Given the description of an element on the screen output the (x, y) to click on. 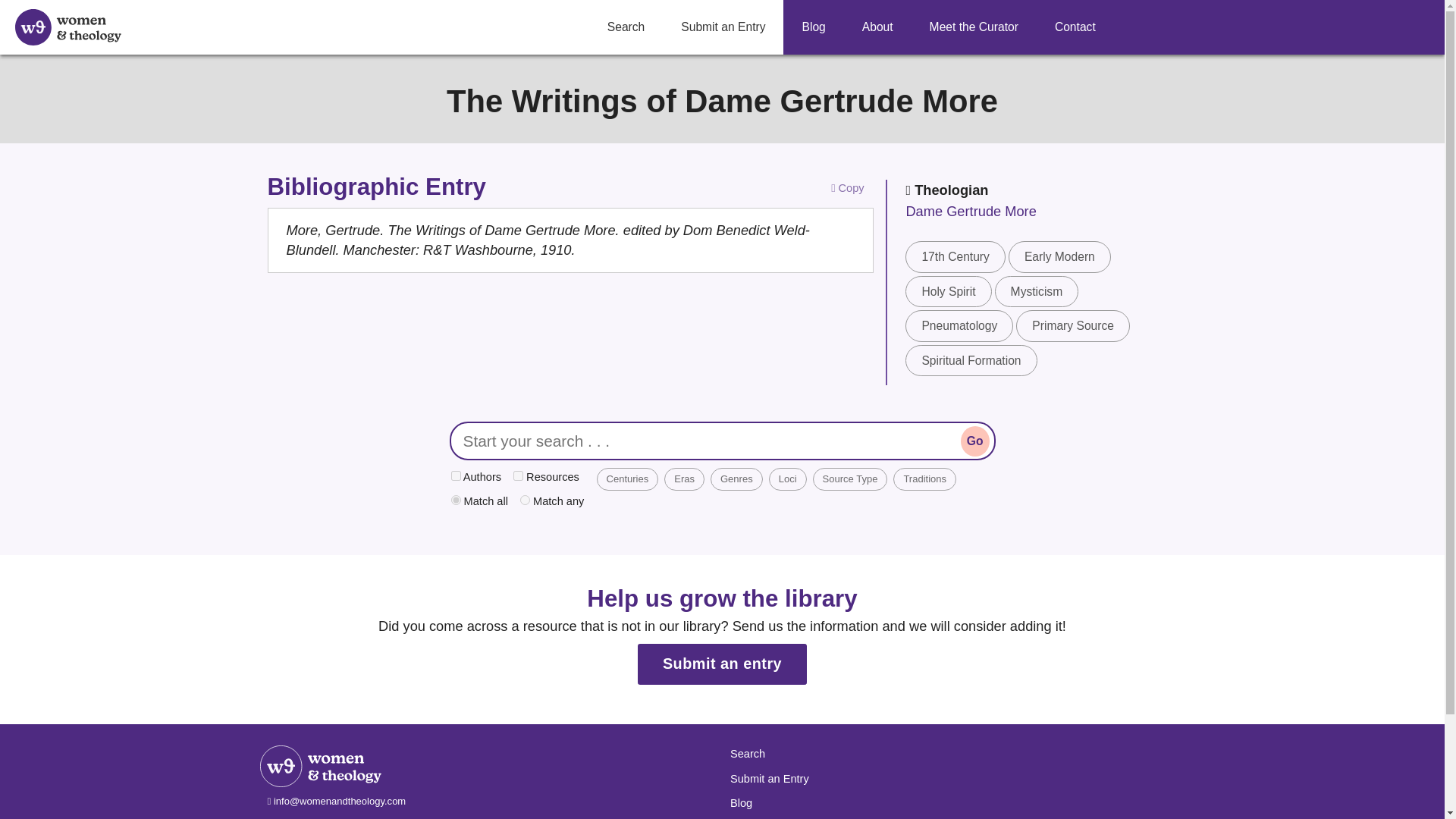
Go (975, 440)
17th Century (954, 255)
any (524, 500)
all (454, 500)
authors (454, 475)
Spiritual Formation (970, 359)
Pneumatology (959, 325)
resources (517, 475)
Mysticism (1036, 291)
Results matching ALL selected filters (477, 501)
Meet the Curator (973, 26)
Source Type (850, 478)
About (877, 26)
Contact (1074, 26)
Blog (813, 26)
